Given the description of an element on the screen output the (x, y) to click on. 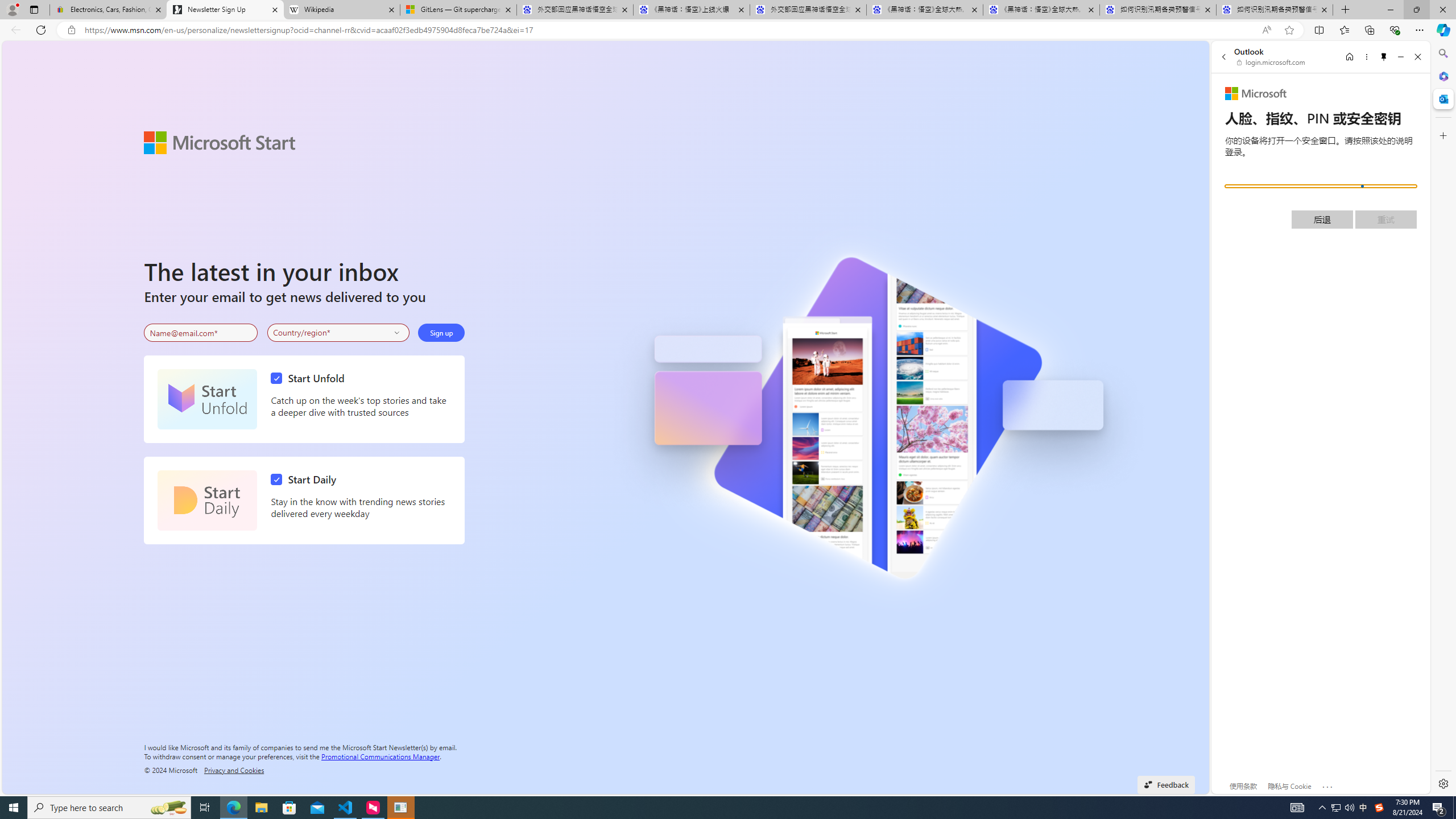
Select your country (338, 332)
Enter your email (200, 332)
